Given the description of an element on the screen output the (x, y) to click on. 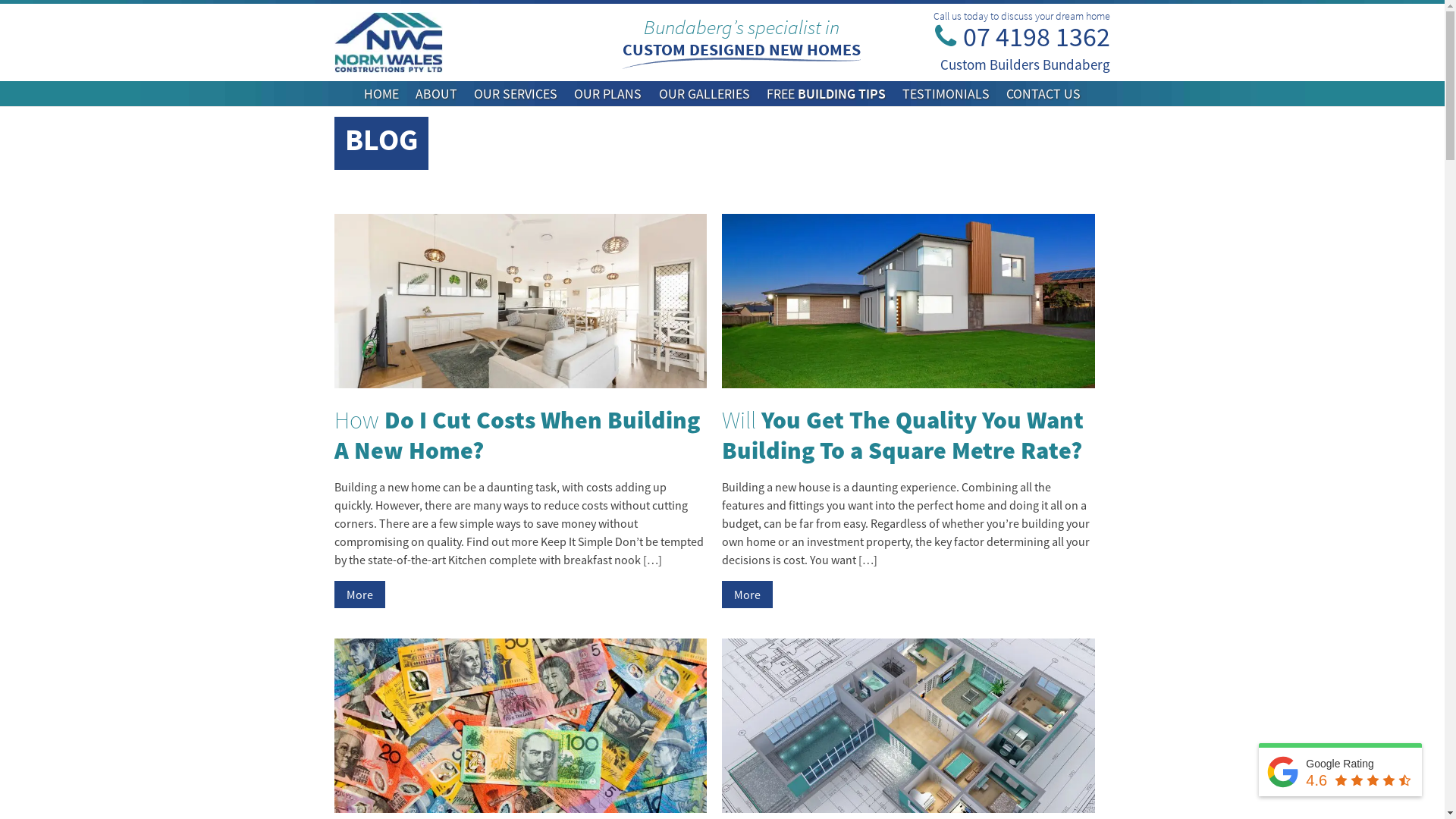
More Element type: text (746, 594)
OUR SERVICES Element type: text (515, 93)
ABOUT Element type: text (436, 93)
FREE BUILDING TIPS Element type: text (825, 93)
OUR GALLERIES Element type: text (703, 93)
How Do I Cut Costs When Building A New Home? Element type: text (516, 434)
More Element type: text (358, 594)
HOME Element type: text (381, 93)
TESTIMONIALS Element type: text (945, 93)
CONTACT US Element type: text (1043, 93)
OUR PLANS Element type: text (607, 93)
07 4198 1362 Element type: text (1013, 50)
